Given the description of an element on the screen output the (x, y) to click on. 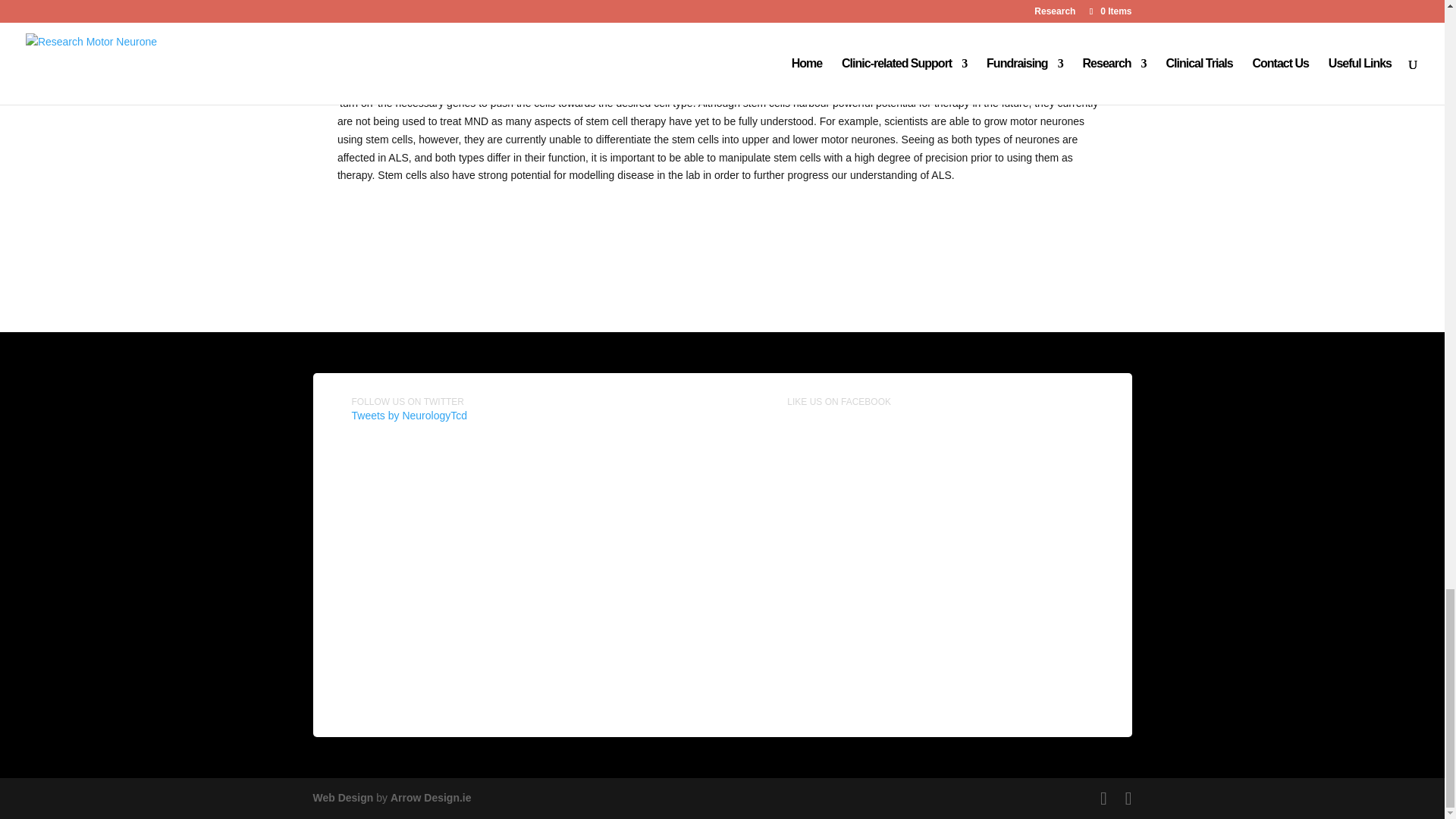
Tweets by NeurologyTcd (409, 415)
Web Design (342, 797)
Arrow Design.ie (430, 797)
